Given the description of an element on the screen output the (x, y) to click on. 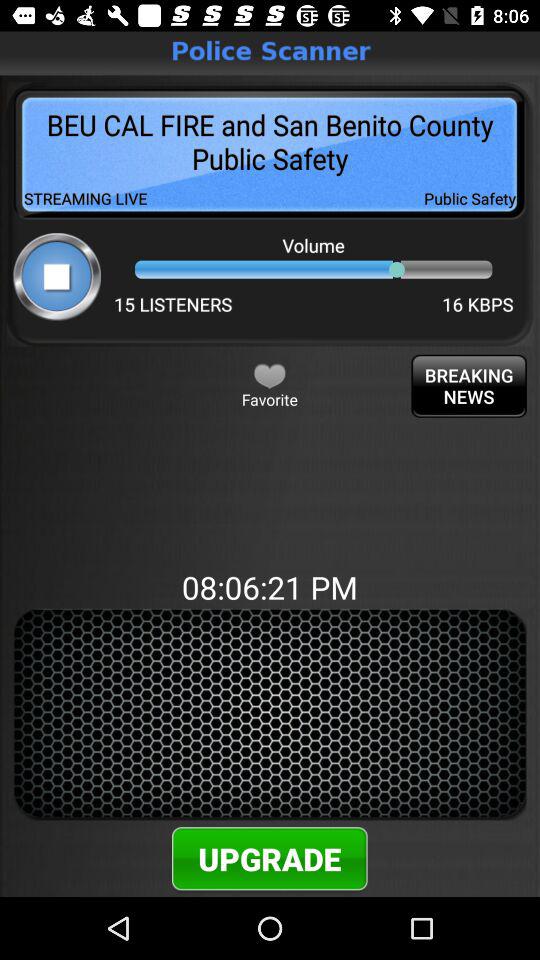
open the icon on the right (468, 385)
